Given the description of an element on the screen output the (x, y) to click on. 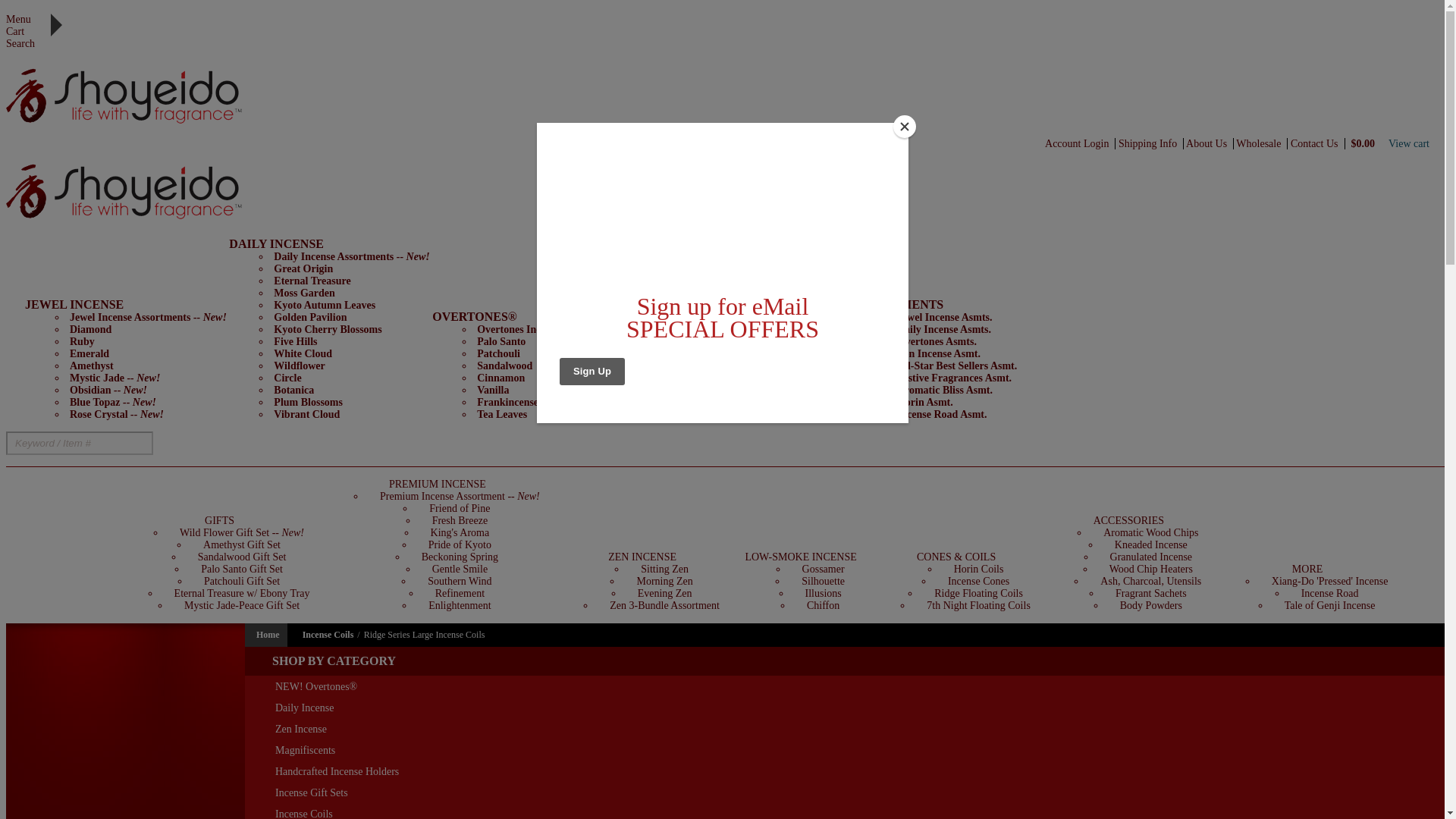
Shoyeido (128, 123)
Shoyeido Customer Assistance (1209, 143)
Shoyeido (128, 88)
